Given the description of an element on the screen output the (x, y) to click on. 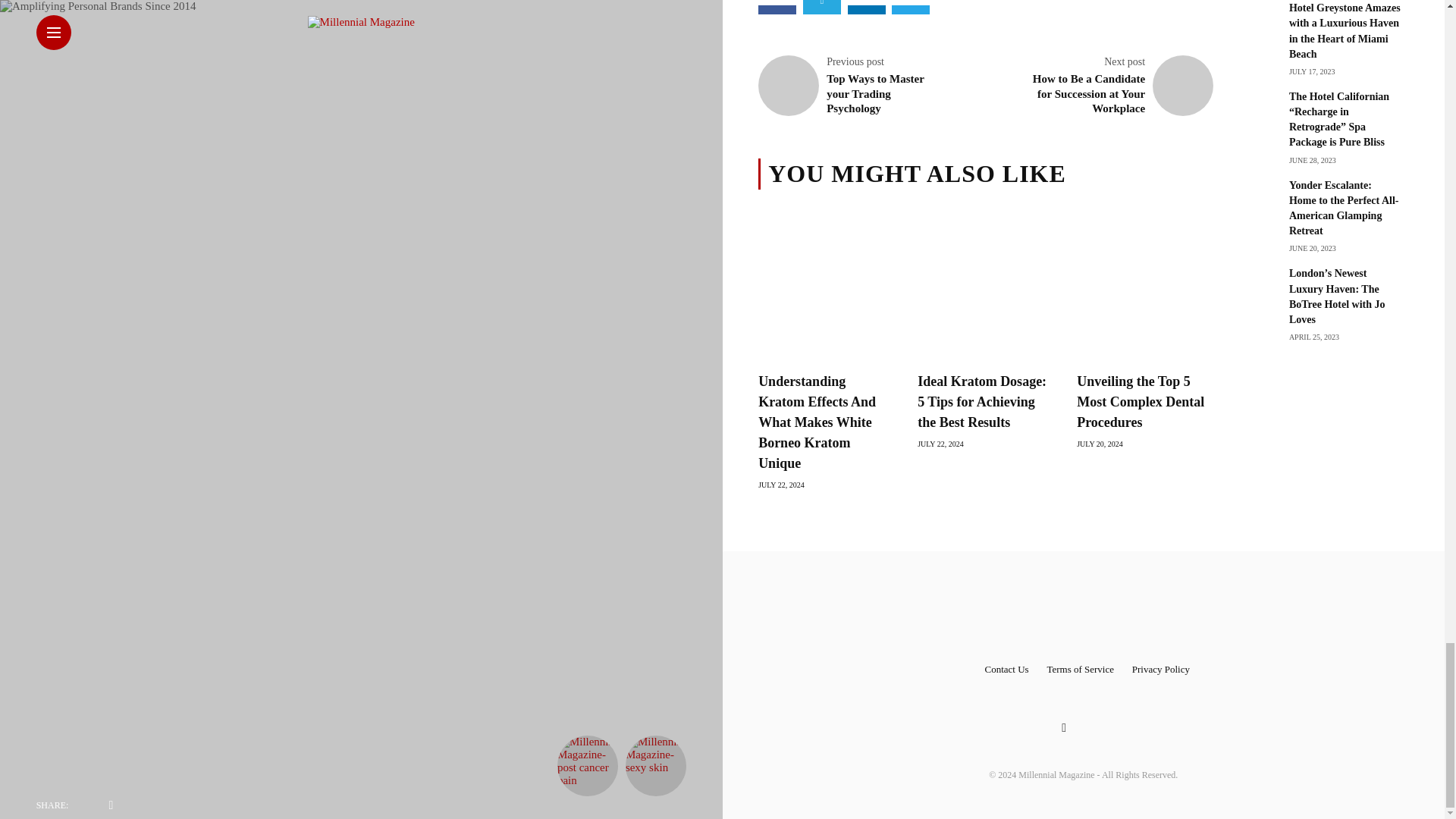
facebook (777, 9)
